Given the description of an element on the screen output the (x, y) to click on. 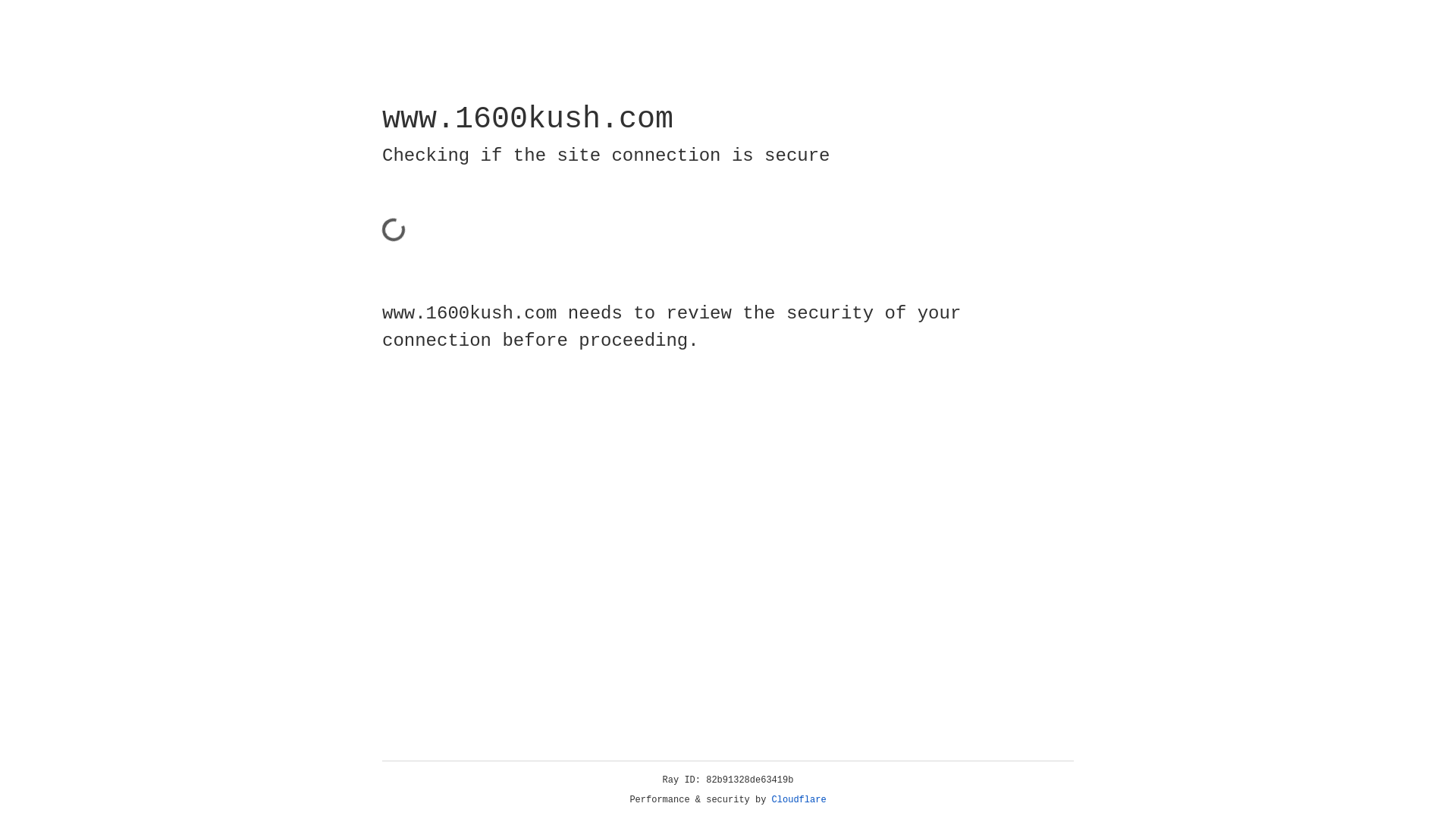
Cloudflare Element type: text (798, 799)
